Given the description of an element on the screen output the (x, y) to click on. 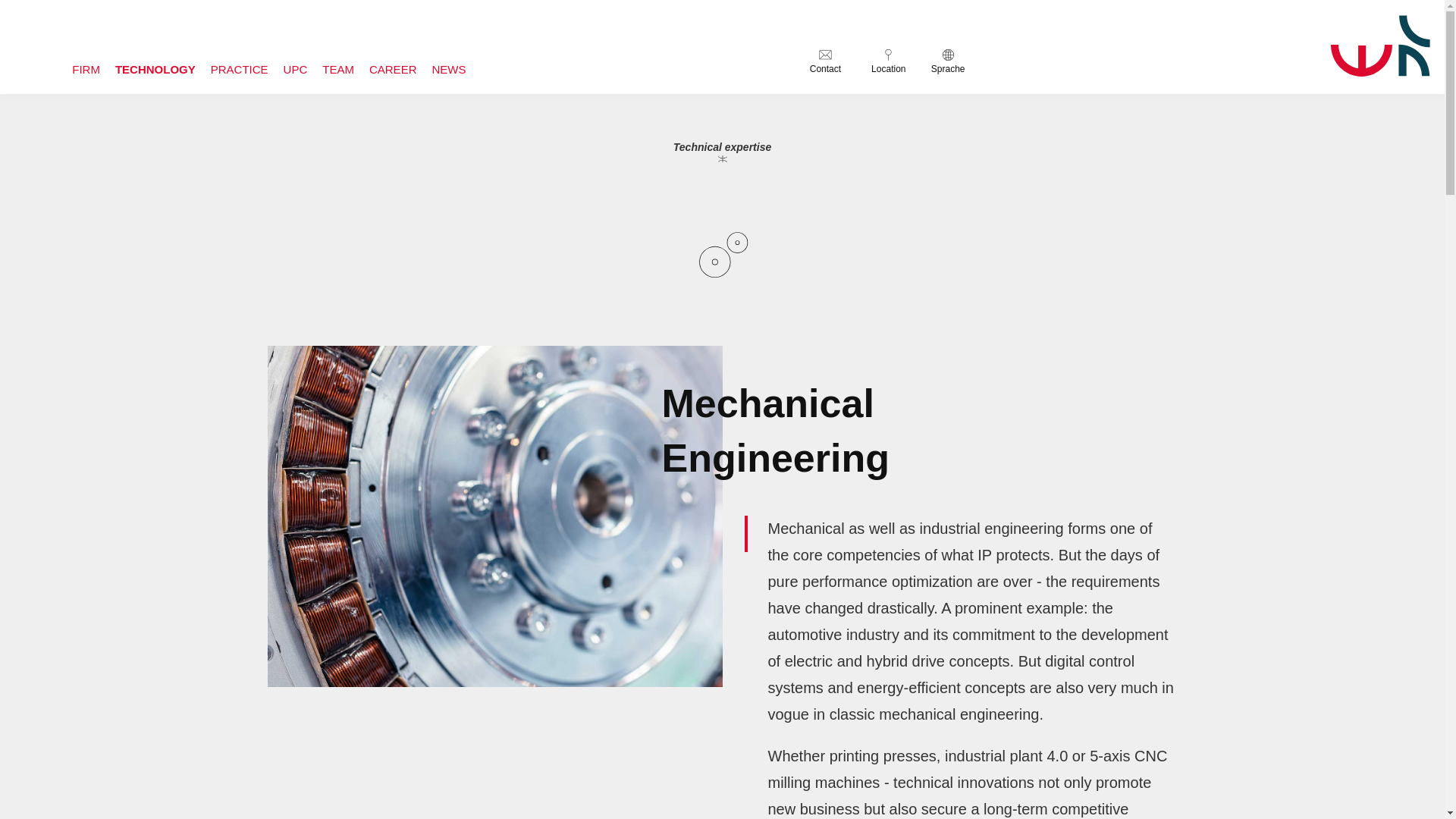
FIRM (85, 69)
Technology (155, 69)
TECHNOLOGY (155, 69)
Firm (85, 69)
PRACTICE (239, 69)
